Given the description of an element on the screen output the (x, y) to click on. 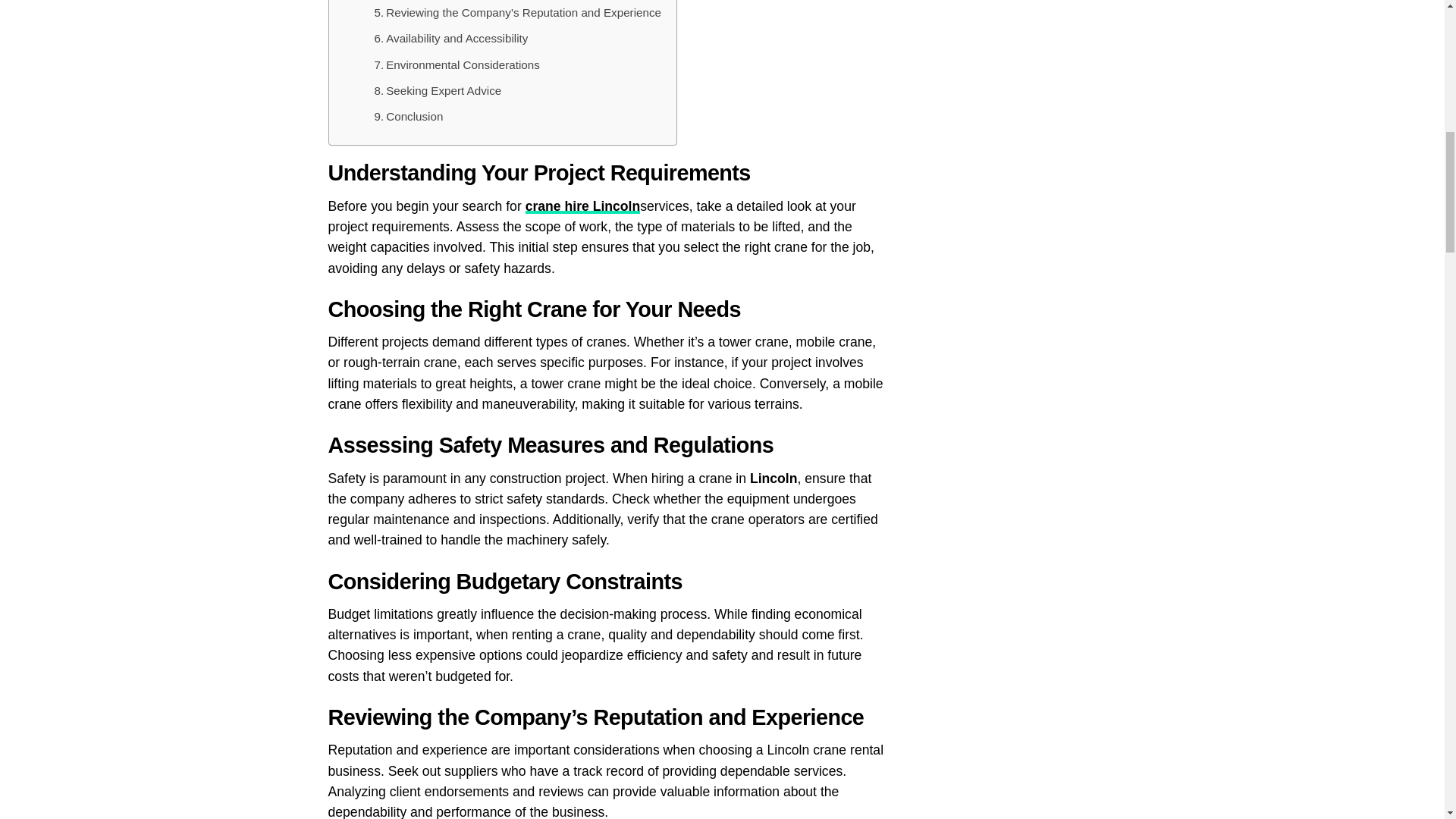
Availability and Accessibility (451, 38)
Availability and Accessibility (451, 38)
Seeking Expert Advice (438, 90)
Environmental Considerations (457, 65)
Conclusion (409, 116)
